Given the description of an element on the screen output the (x, y) to click on. 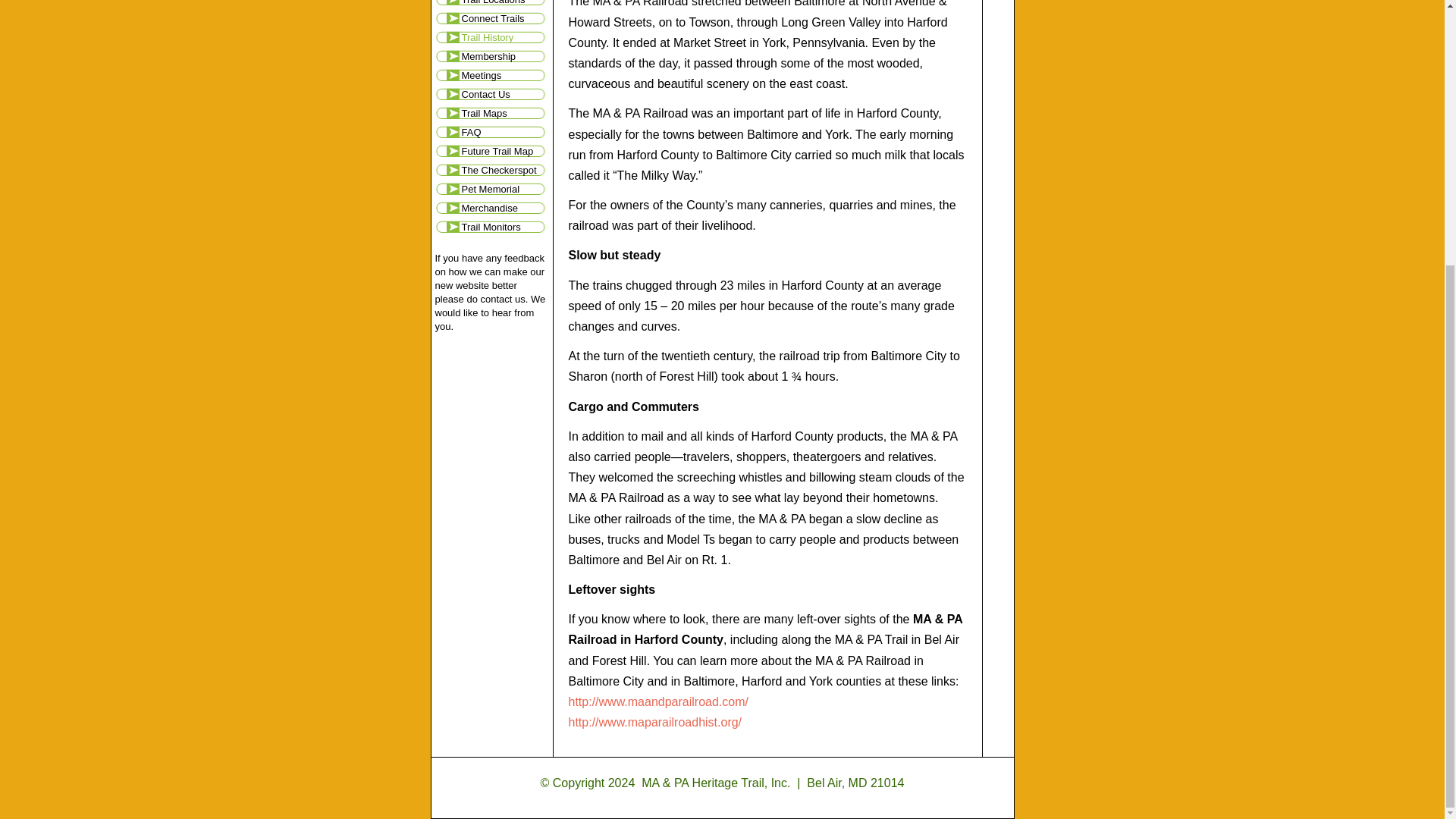
Trail Locations (492, 4)
Meetings (492, 75)
Membership (492, 56)
Trail Monitors (492, 226)
Future Trail Map (492, 150)
Connect Trails (492, 18)
Merchandise (492, 208)
The Checkerspot (492, 169)
Trail Maps (492, 113)
Pet Memorial (492, 189)
FAQ (492, 131)
Contact Us (492, 94)
Trail History (492, 36)
